Given the description of an element on the screen output the (x, y) to click on. 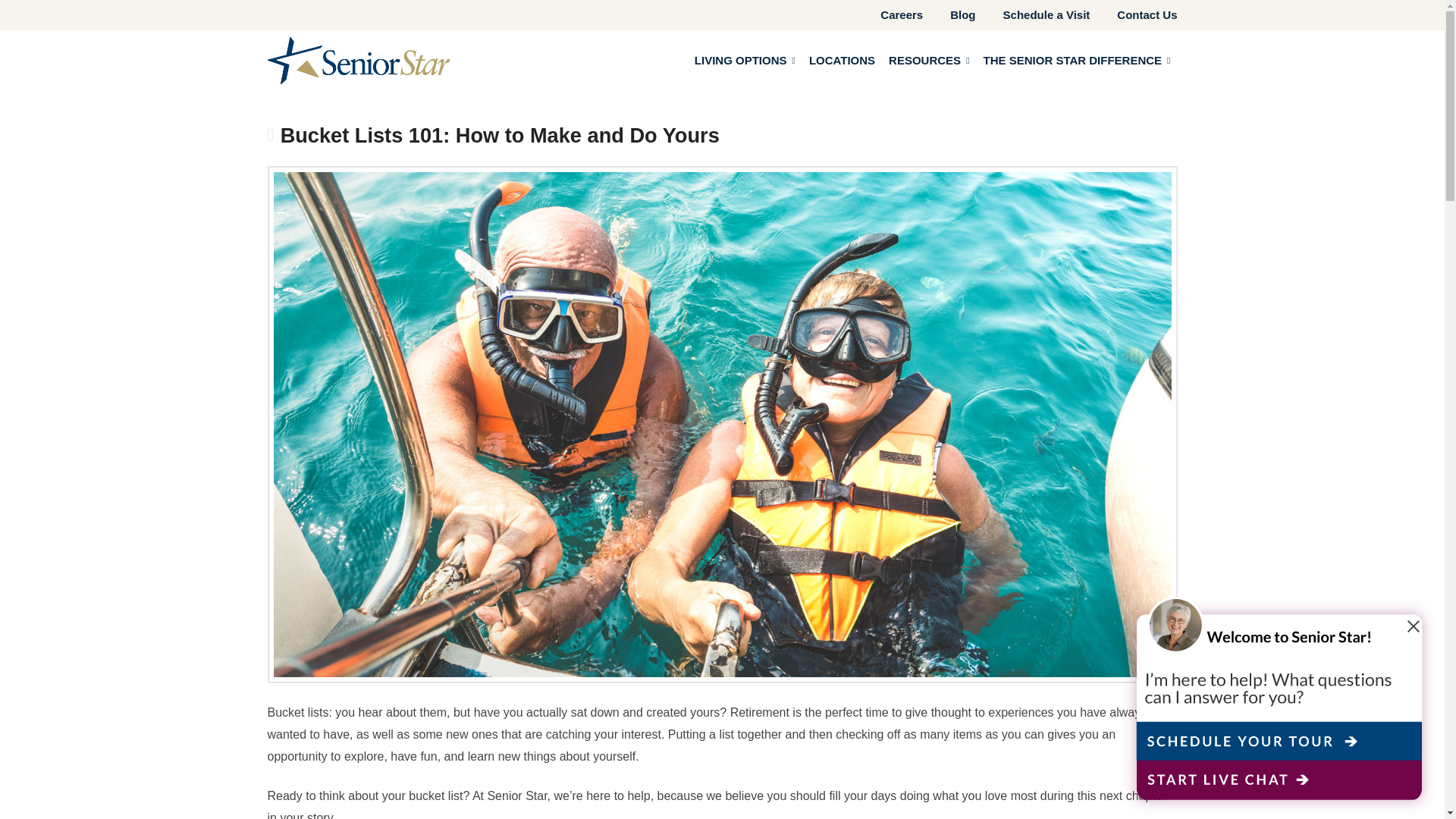
RESOURCES (928, 60)
THE SENIOR STAR DIFFERENCE (1076, 60)
Careers (888, 15)
Blog (949, 15)
Schedule a Visit (1032, 15)
LIVING OPTIONS (744, 60)
Contact Us (1132, 15)
LOCATIONS (842, 60)
